Given the description of an element on the screen output the (x, y) to click on. 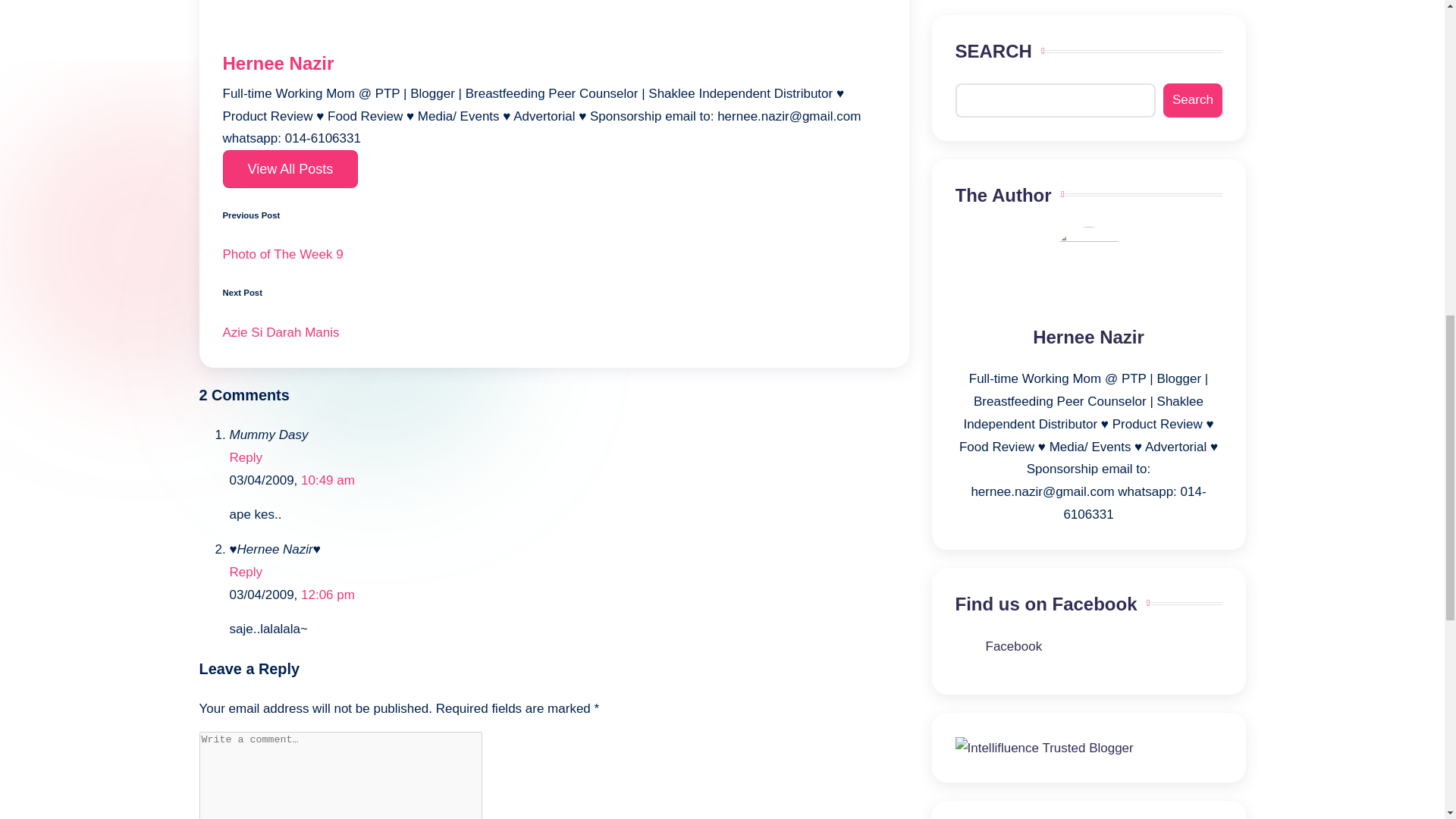
Reply (245, 572)
View All Posts (290, 168)
Photo of The Week 9 (553, 254)
Azie Si Darah Manis (553, 332)
12:06 pm (328, 594)
Hernee Nazir (278, 63)
Reply (245, 457)
I AM JDT BLOGGER (1021, 156)
10:49 am (328, 480)
